Given the description of an element on the screen output the (x, y) to click on. 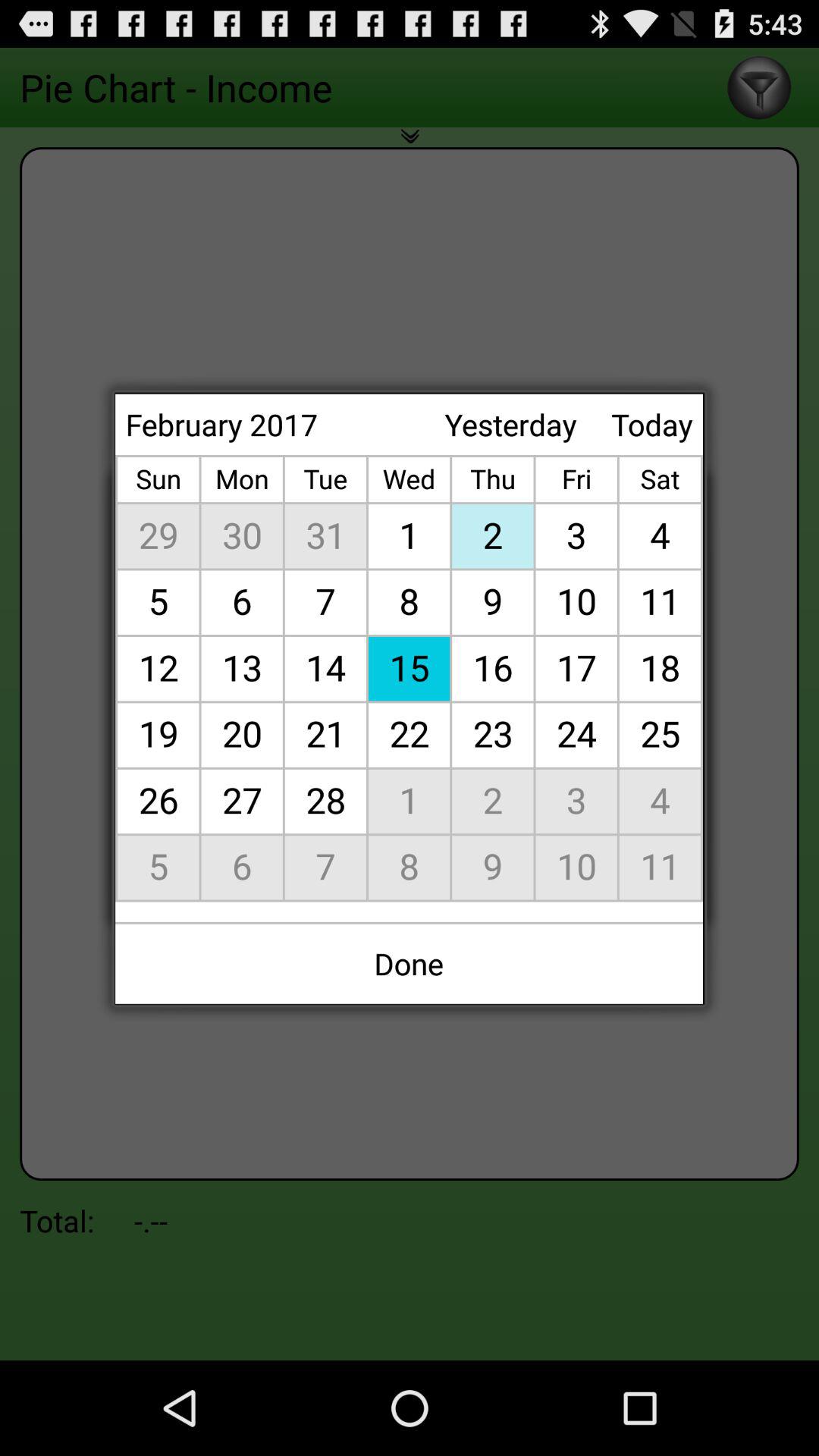
launch item next to today (510, 424)
